Given the description of an element on the screen output the (x, y) to click on. 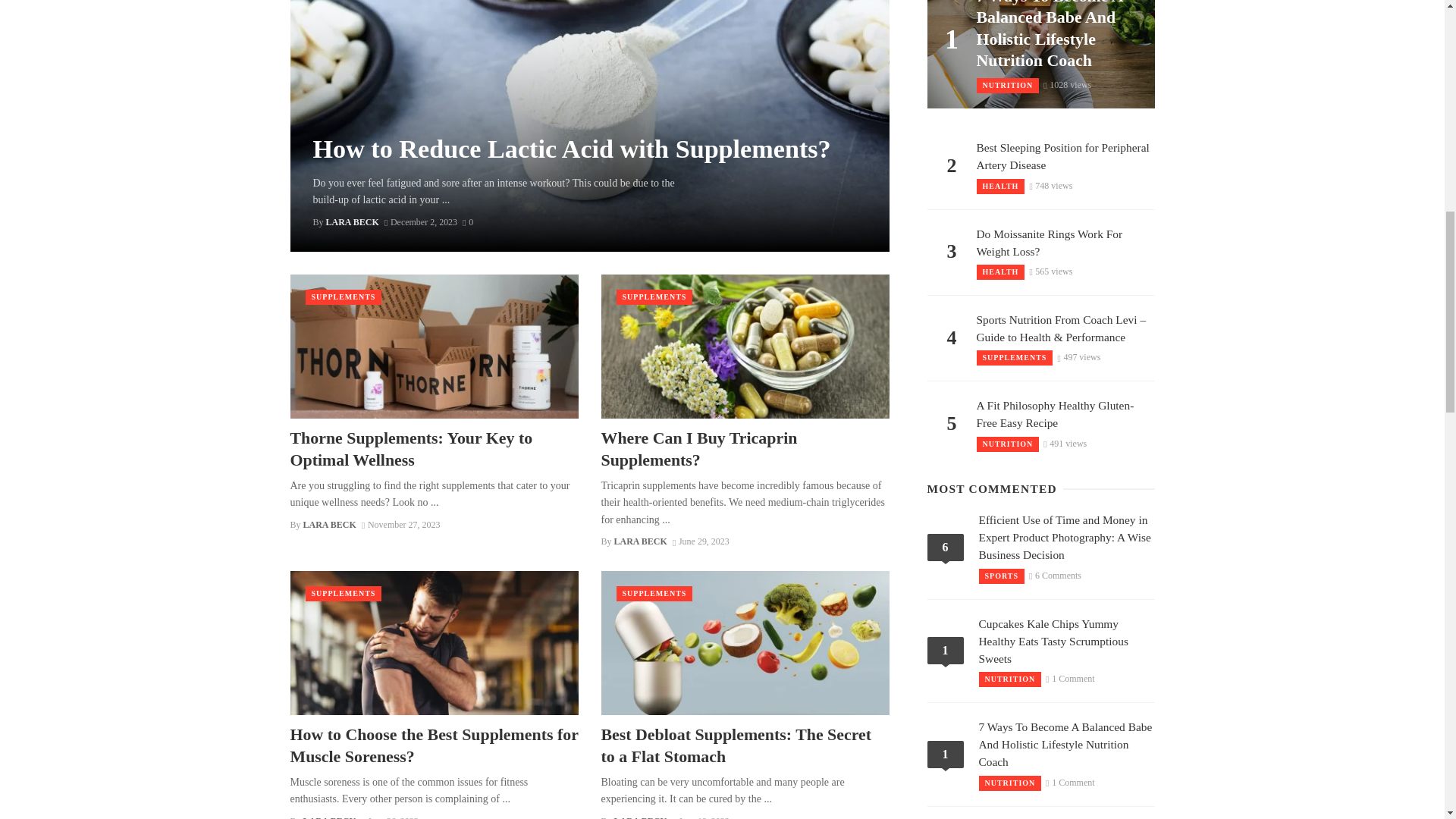
How to Reduce Lactic Acid with Supplements? (571, 148)
LARA BECK (351, 222)
December 2, 2023 at 9:11 am (420, 222)
June 26, 2023 at 8:25 pm (390, 817)
0 Comments (468, 222)
November 27, 2023 at 11:15 am (401, 524)
0 (468, 222)
June 19, 2023 at 7:52 pm (700, 817)
June 29, 2023 at 12:26 pm (700, 541)
